Given the description of an element on the screen output the (x, y) to click on. 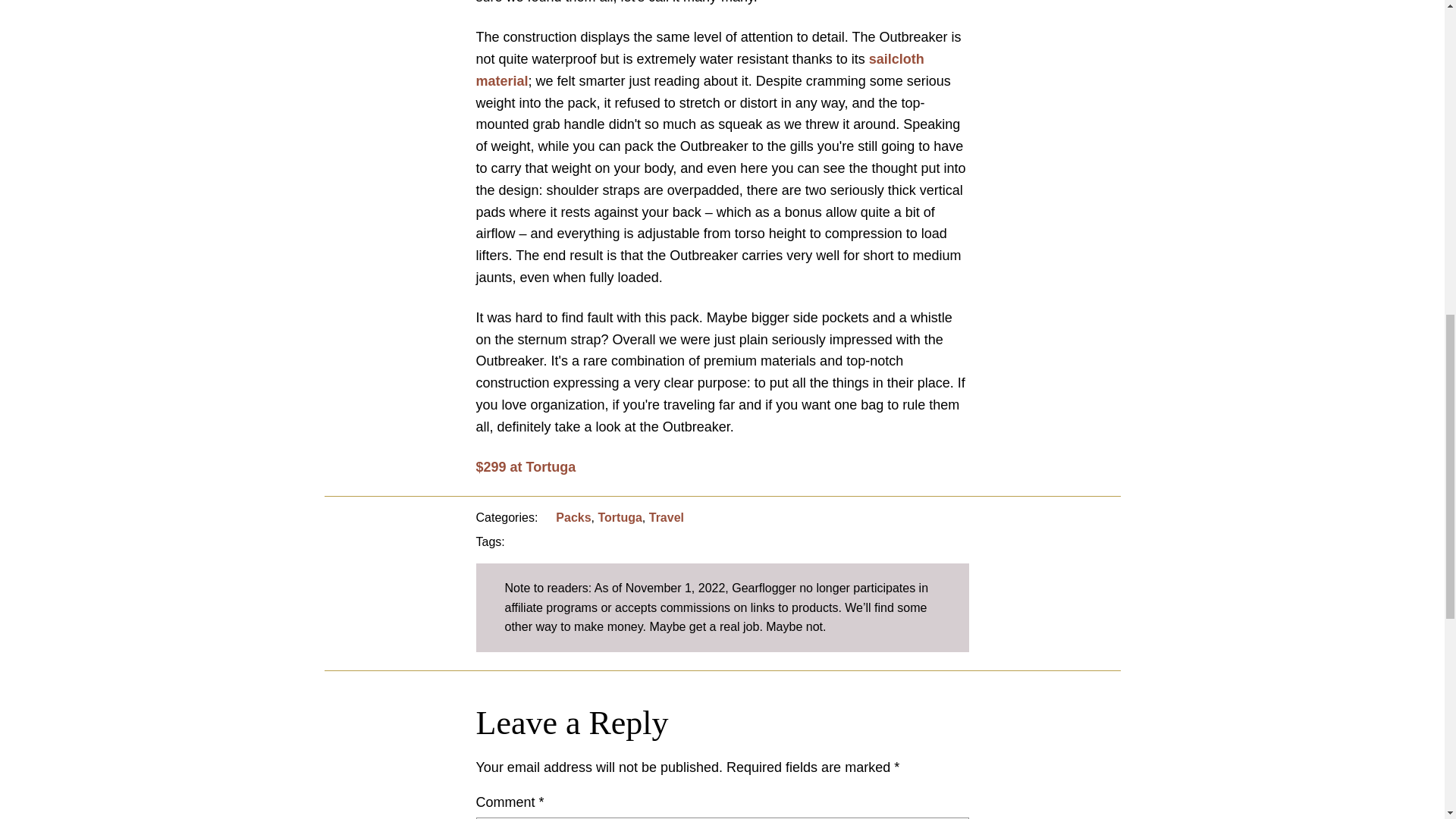
sailcloth material (700, 69)
Packs (573, 517)
Travel (666, 517)
Tortuga (619, 517)
